Given the description of an element on the screen output the (x, y) to click on. 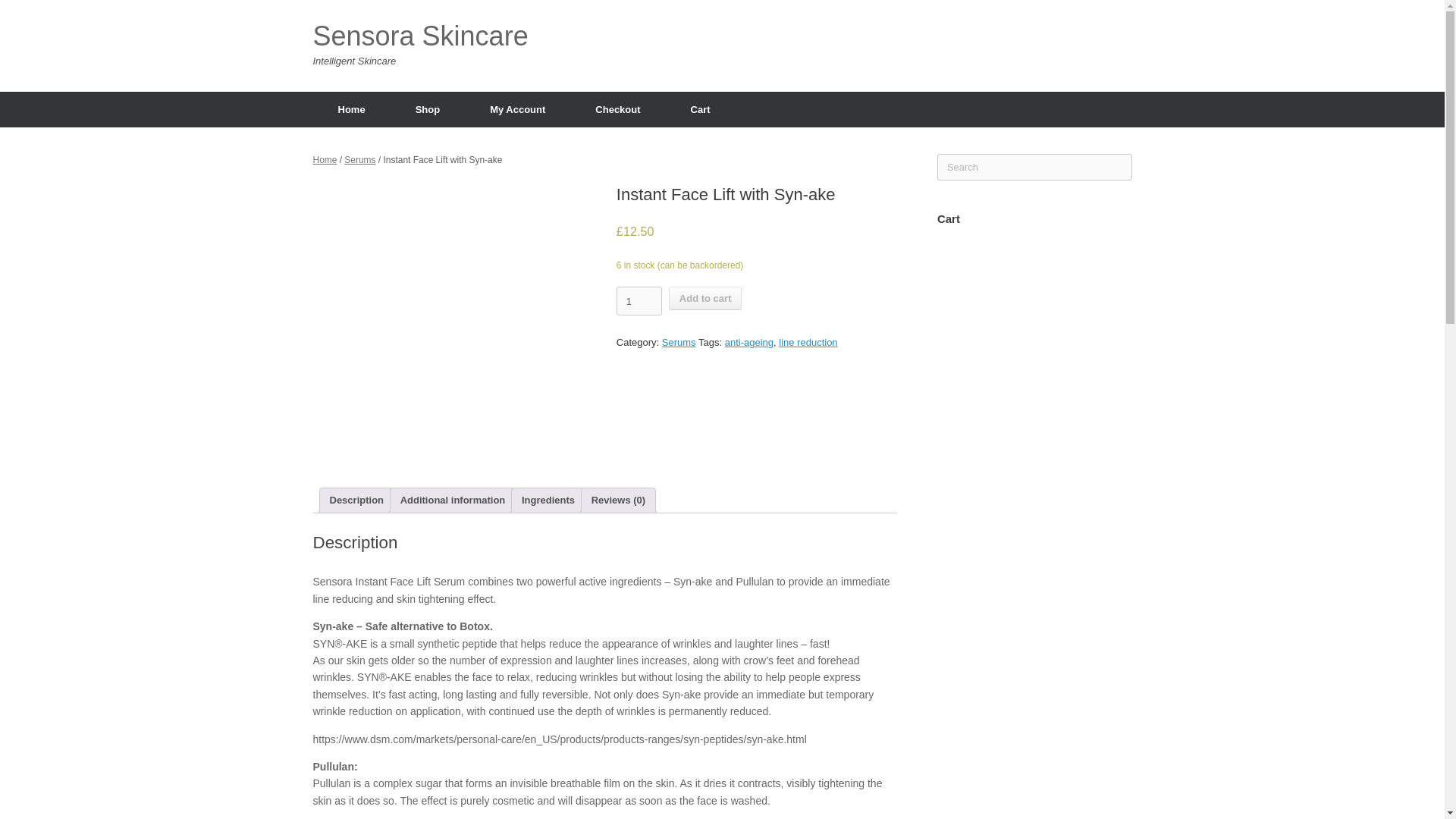
Cart (700, 108)
Serums (359, 159)
Checkout (617, 108)
Shop (427, 108)
Home (351, 108)
1 (638, 300)
Add to cart (705, 298)
Description (356, 500)
anti-ageing (749, 342)
Sensora Skincare (420, 35)
